Given the description of an element on the screen output the (x, y) to click on. 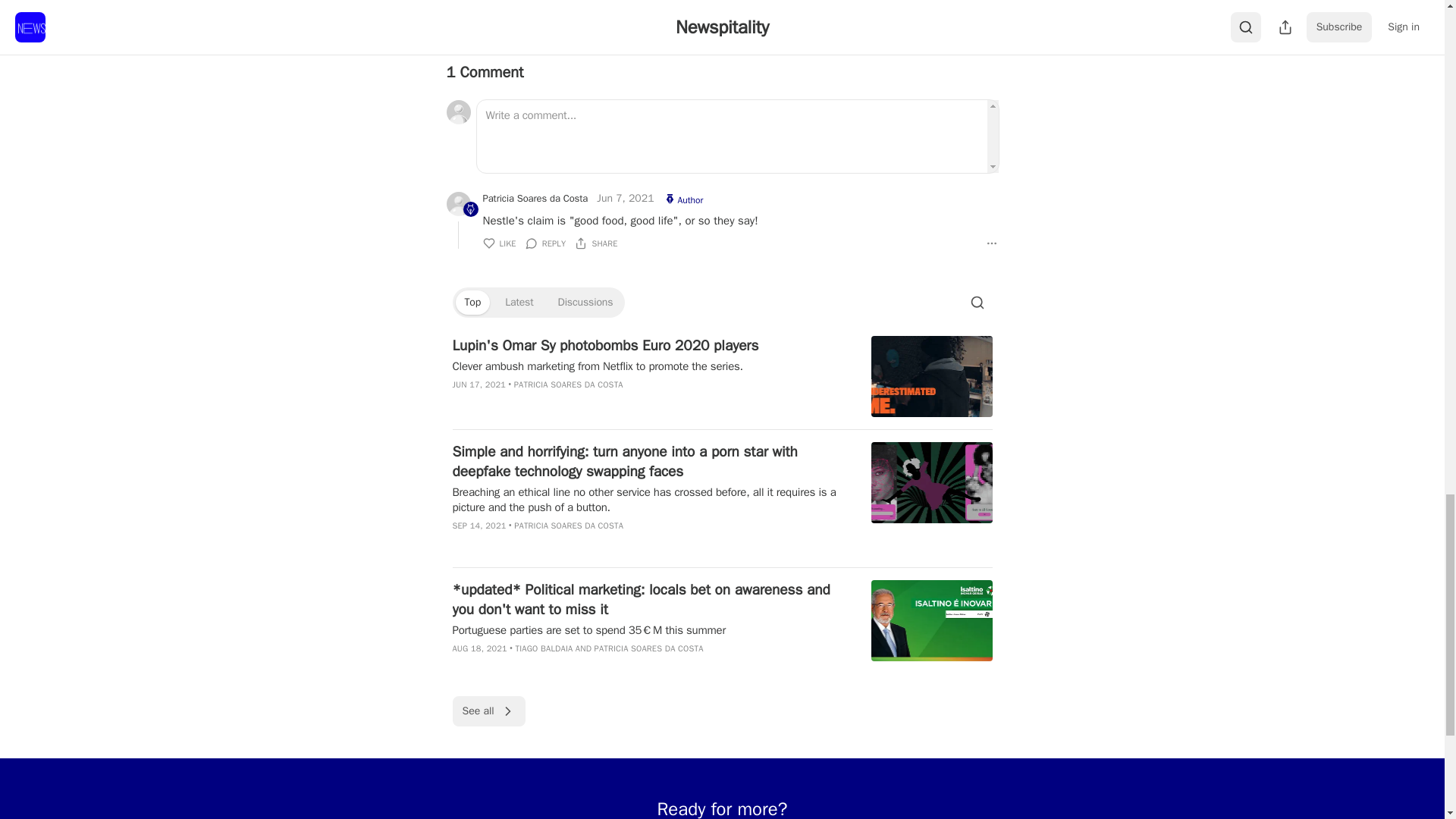
2 (469, 17)
